Given the description of an element on the screen output the (x, y) to click on. 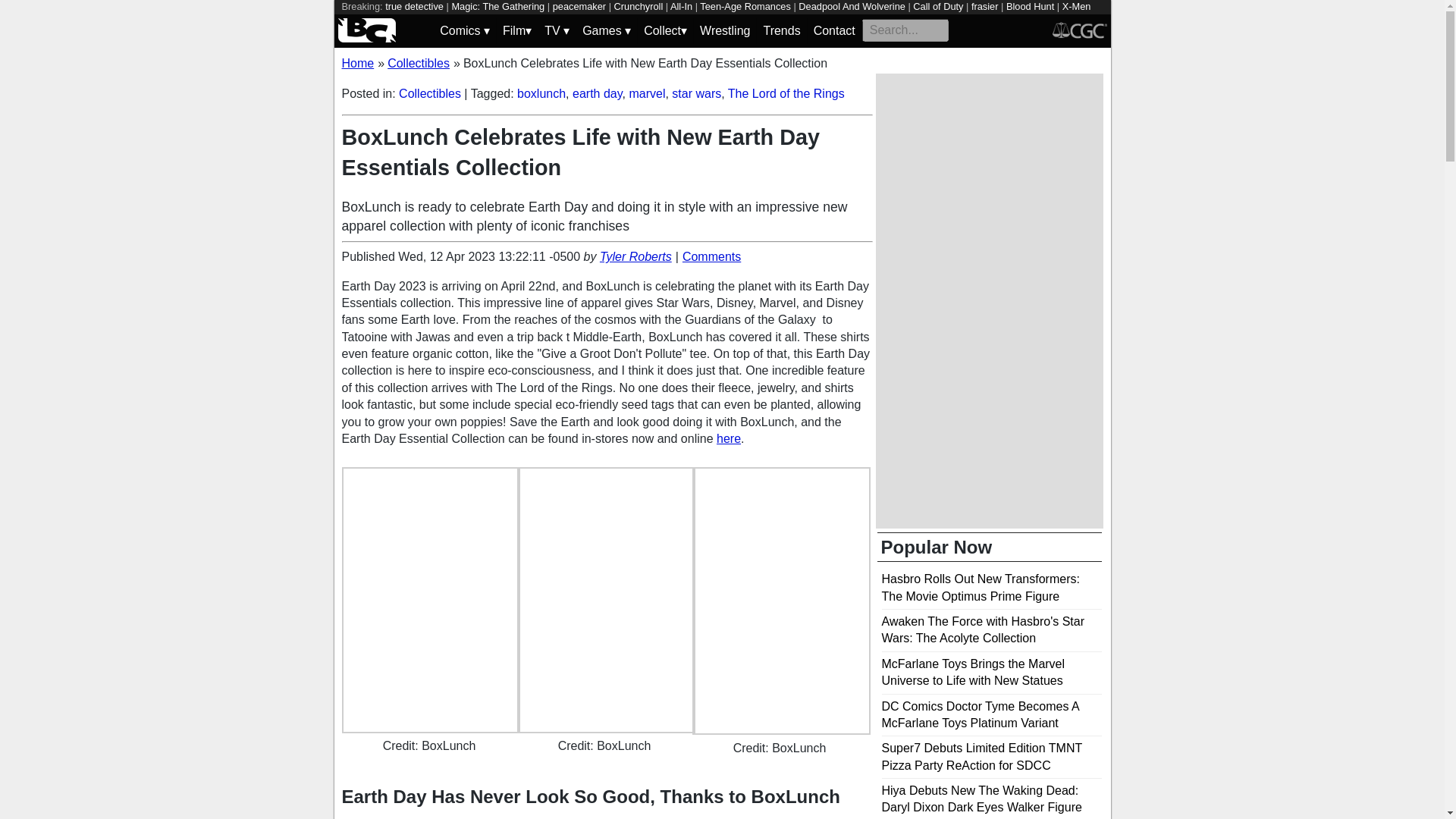
X-Men '97 (715, 12)
peacemaker (579, 6)
Emmy Awards (563, 19)
Crunchyroll (638, 6)
Ultimate (506, 19)
true detective (414, 6)
Blood Hunt (1030, 6)
Toggle Dropdown (606, 30)
frasier (984, 6)
Teen-Age Romances (745, 6)
EA Sports FC 25 (444, 19)
Wed, 12 Apr 2023 13:22:11 -0500 (488, 256)
Toggle Dropdown (665, 30)
Deadpool And Wolverine (851, 6)
Magic: The Gathering (497, 6)
